Given the description of an element on the screen output the (x, y) to click on. 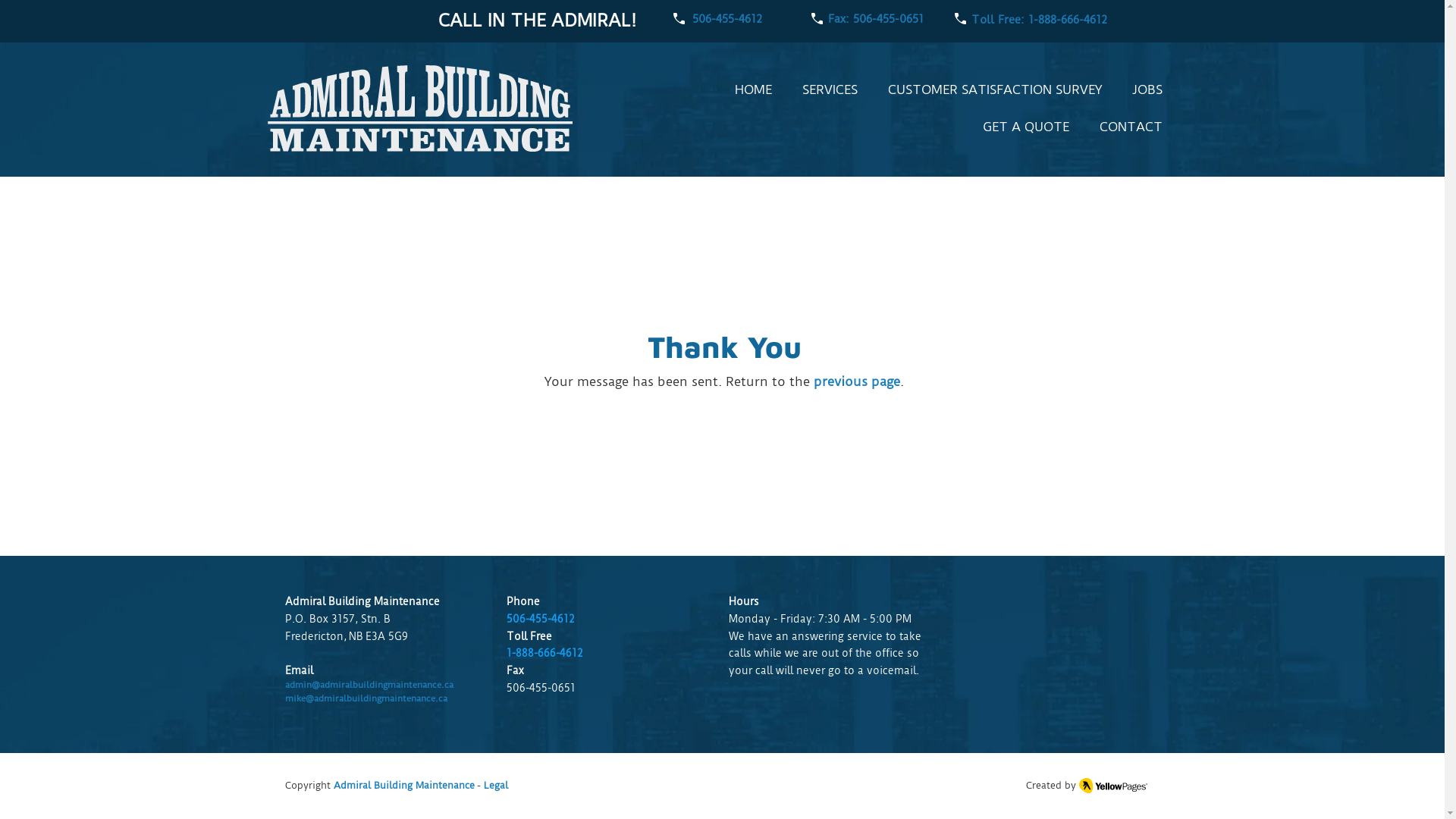
CONTACT Element type: text (1130, 126)
previous page Element type: text (856, 381)
admin@admiralbuildingmaintenance.ca Element type: text (369, 684)
JOBS Element type: text (1146, 89)
GET A QUOTE Element type: text (1025, 126)
506-455-4612 Element type: text (726, 19)
Embedded Content Element type: hover (1108, 654)
Embedded Content Element type: hover (1127, 688)
Toll Free: 1-888-666-4612 Element type: text (1038, 20)
Admiral Building Maintenance Element type: text (403, 784)
506-455-4612 Element type: text (540, 618)
1-888-666-4612 Element type: text (544, 652)
mike@admiralbuildingmaintenance.ca Element type: text (366, 698)
HOME Element type: text (752, 89)
CUSTOMER SATISFACTION SURVEY Element type: text (994, 89)
Legal Element type: text (494, 784)
